Given the description of an element on the screen output the (x, y) to click on. 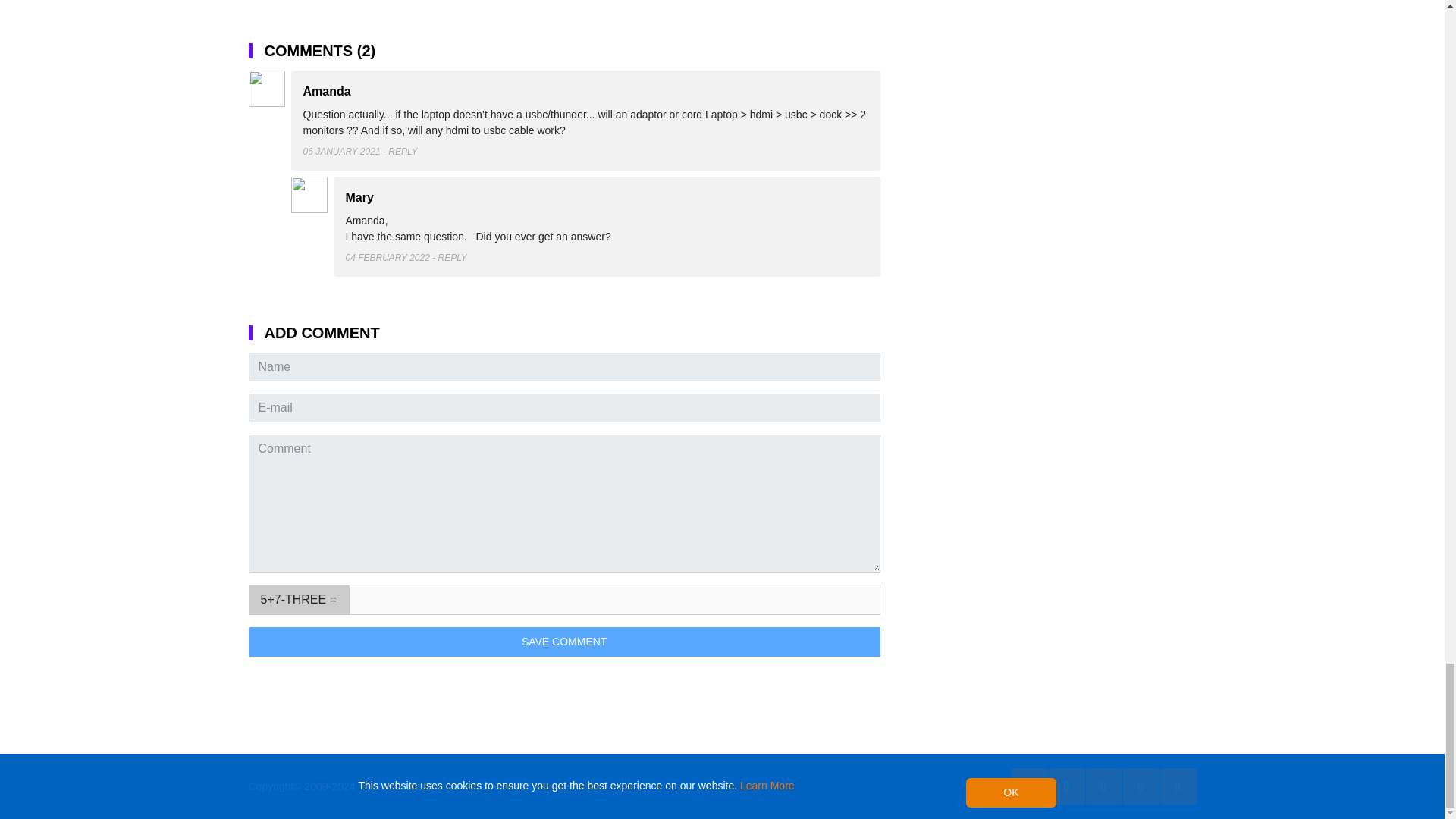
Save comment (564, 641)
